Given the description of an element on the screen output the (x, y) to click on. 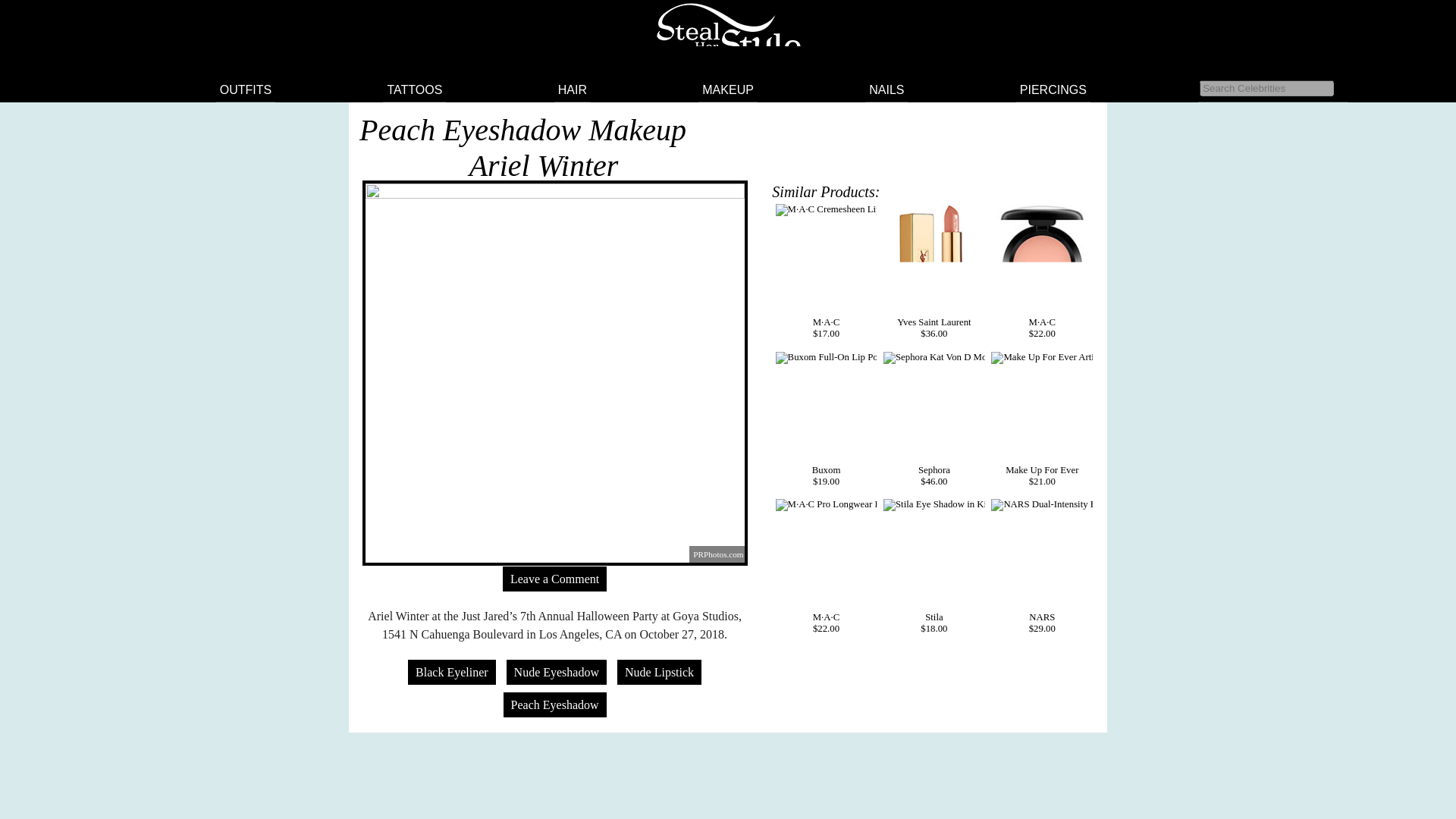
TATTOOS (413, 89)
Black Eyeliner (451, 672)
Sephora Kat Von D Monarch Eyeshadow Palette (934, 357)
Ariel Winter (543, 165)
Stila Eye Shadow in Kitten shimmering nude pink (934, 504)
PIERCINGS (1053, 89)
Buxom Full-On Lip Polish in Amy (826, 357)
HAIR (572, 89)
Nude Eyeshadow (556, 672)
Peach Eyeshadow (555, 704)
Ariel Winter makeup (543, 165)
MAKEUP (727, 89)
Nude Lipstick (659, 672)
NAILS (885, 89)
NARS Dual-Intensity Eyeshadow in Europa (1042, 504)
